Given the description of an element on the screen output the (x, y) to click on. 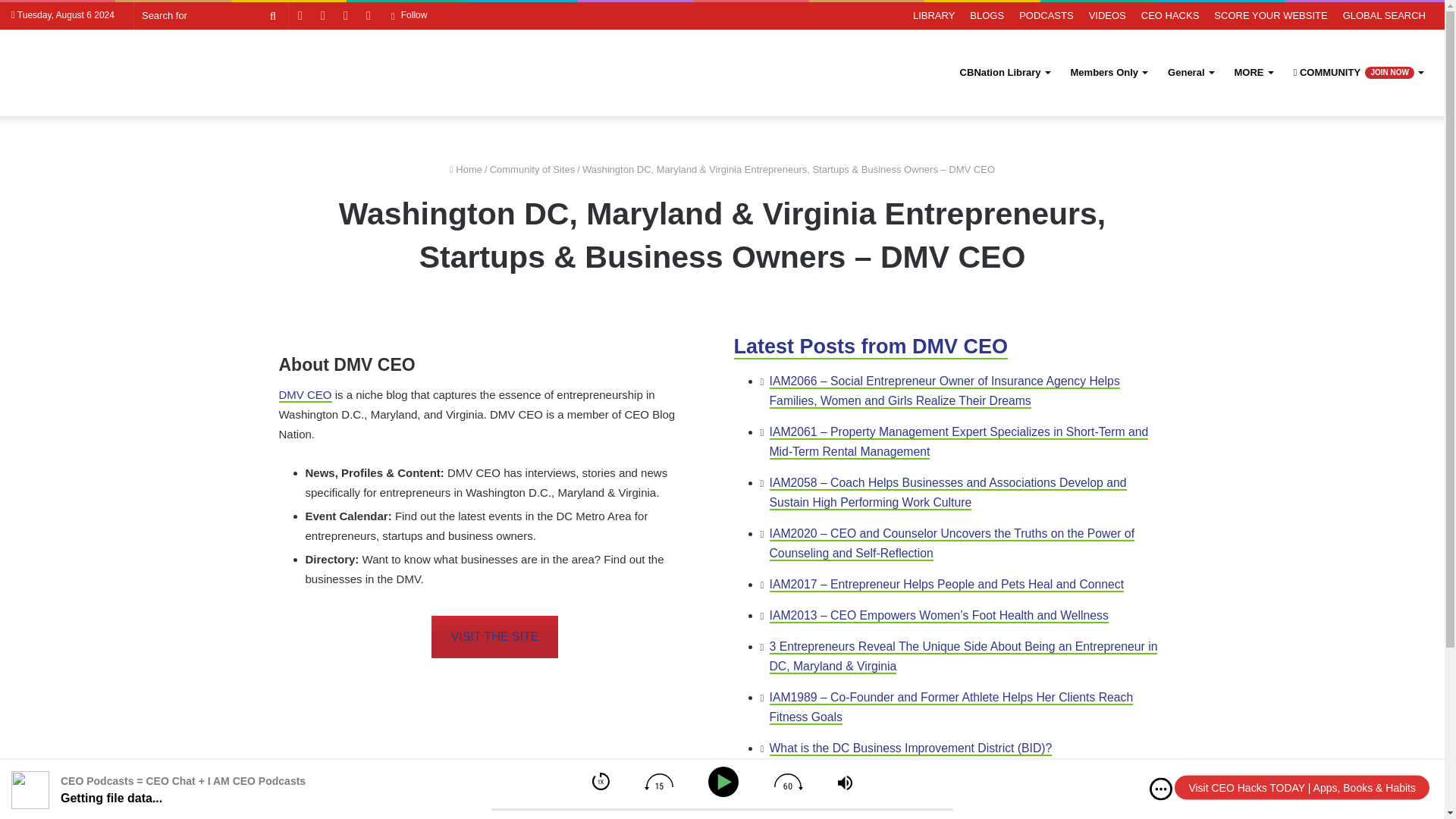
Speed: Normal (601, 781)
CBNation Library (1004, 72)
CEO HACKS (1170, 15)
LIBRARY (933, 15)
SCORE YOUR WEBSITE (1271, 15)
PODCASTS (1046, 15)
Search for (210, 15)
Search for (272, 15)
VIDEOS (1107, 15)
BLOGS (986, 15)
